Given the description of an element on the screen output the (x, y) to click on. 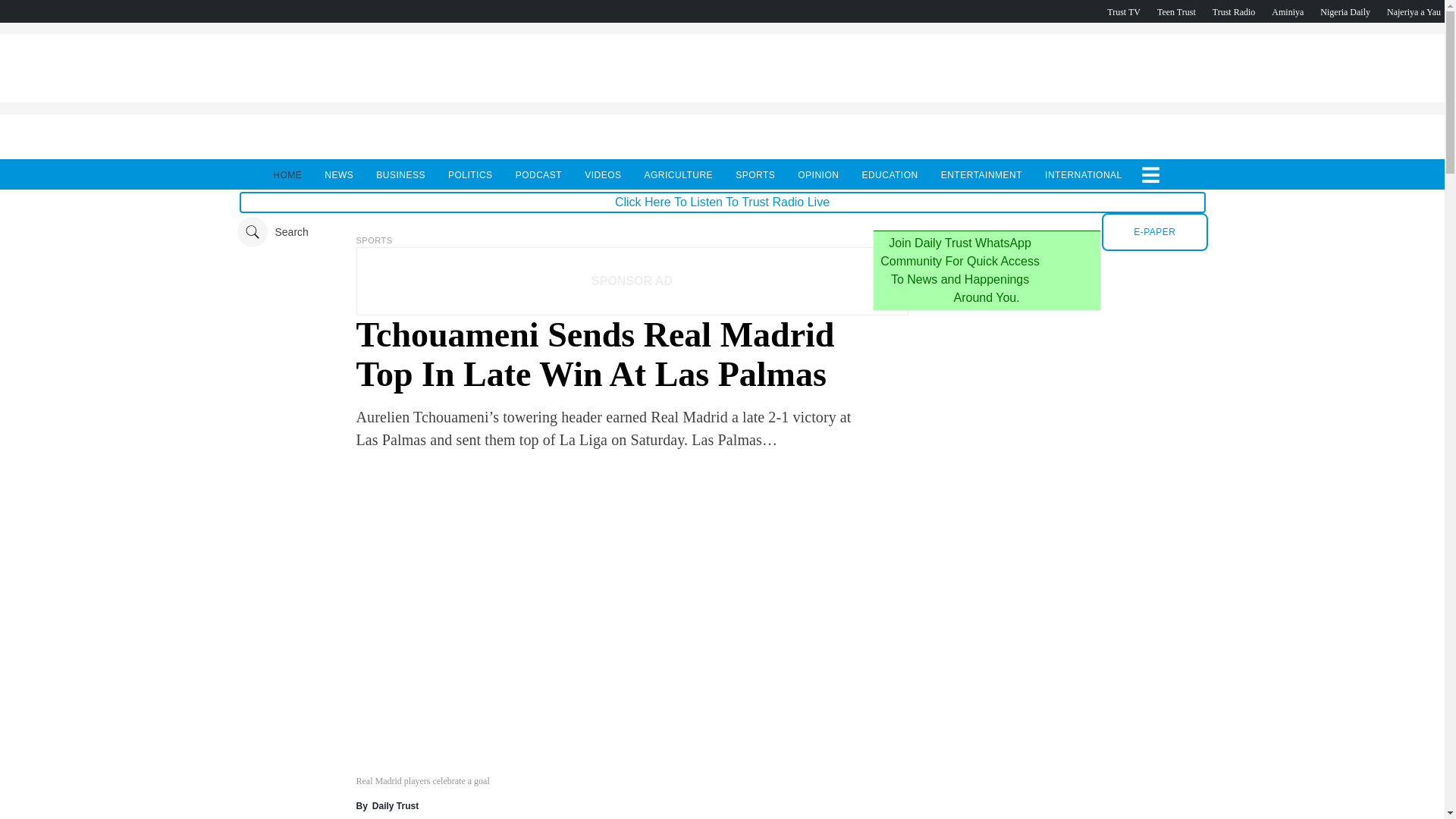
Trust TV Live (1123, 11)
Dailytrust (722, 231)
E-PAPER (1154, 231)
Podcast (1345, 11)
Trust Radio (1233, 11)
E-Paper Subscription (1154, 231)
Trust TV (1123, 11)
Search (271, 232)
Sports (374, 239)
Search (271, 232)
